Given the description of an element on the screen output the (x, y) to click on. 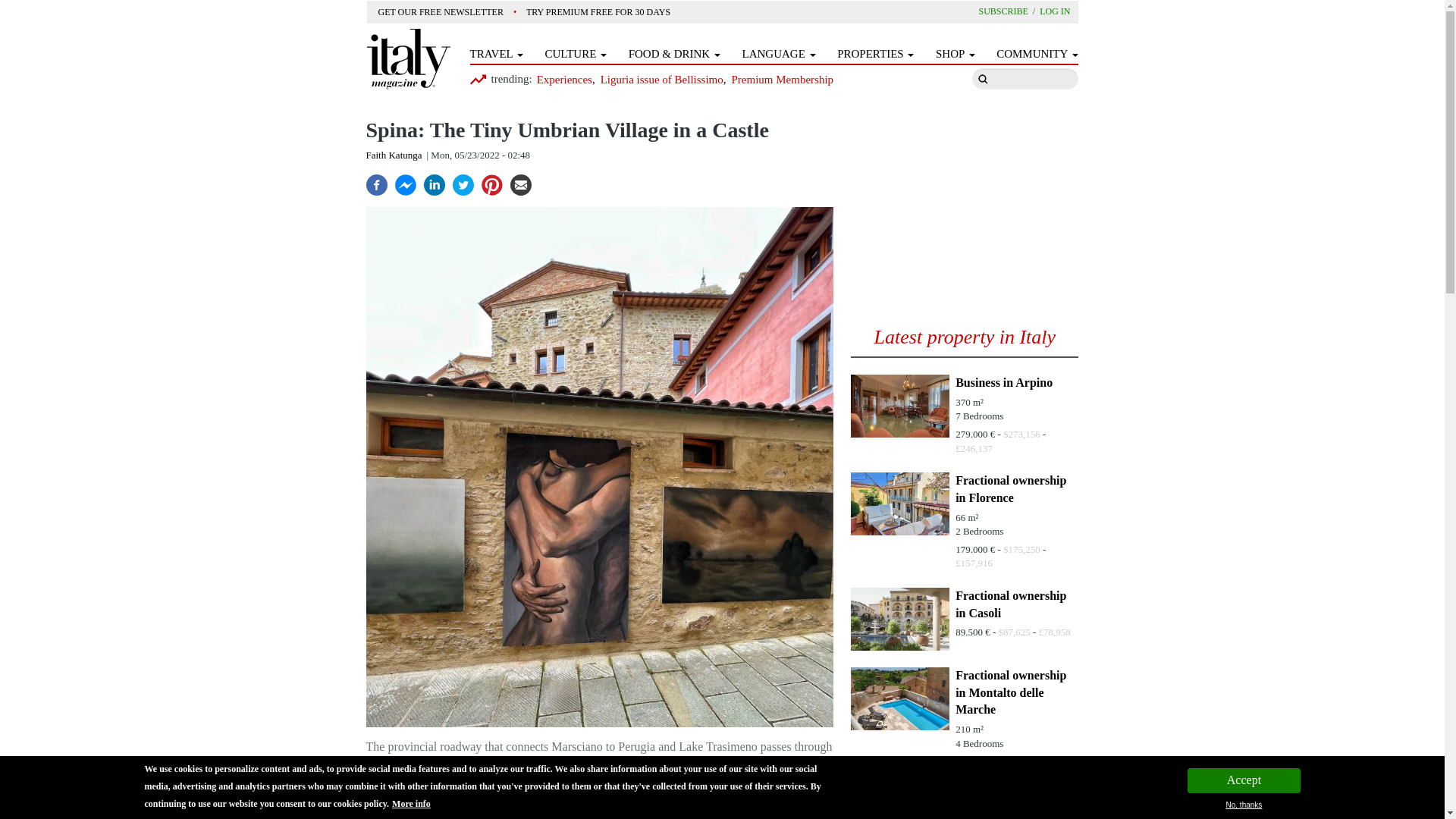
TRY PREMIUM FREE FOR 30 DAYS (599, 11)
LANGUAGE (778, 53)
SUBSCRIBE (1008, 11)
CULTURE (575, 53)
COMMUNITY (1036, 53)
LOG IN (1054, 11)
Facebook messenger (404, 182)
AC99-149-1404 1 (899, 405)
Home (407, 58)
Liguria issue of Bellissimo (662, 79)
Facebook (376, 182)
PROPERTIES (875, 53)
Email (520, 182)
Pinterest (491, 182)
